Given the description of an element on the screen output the (x, y) to click on. 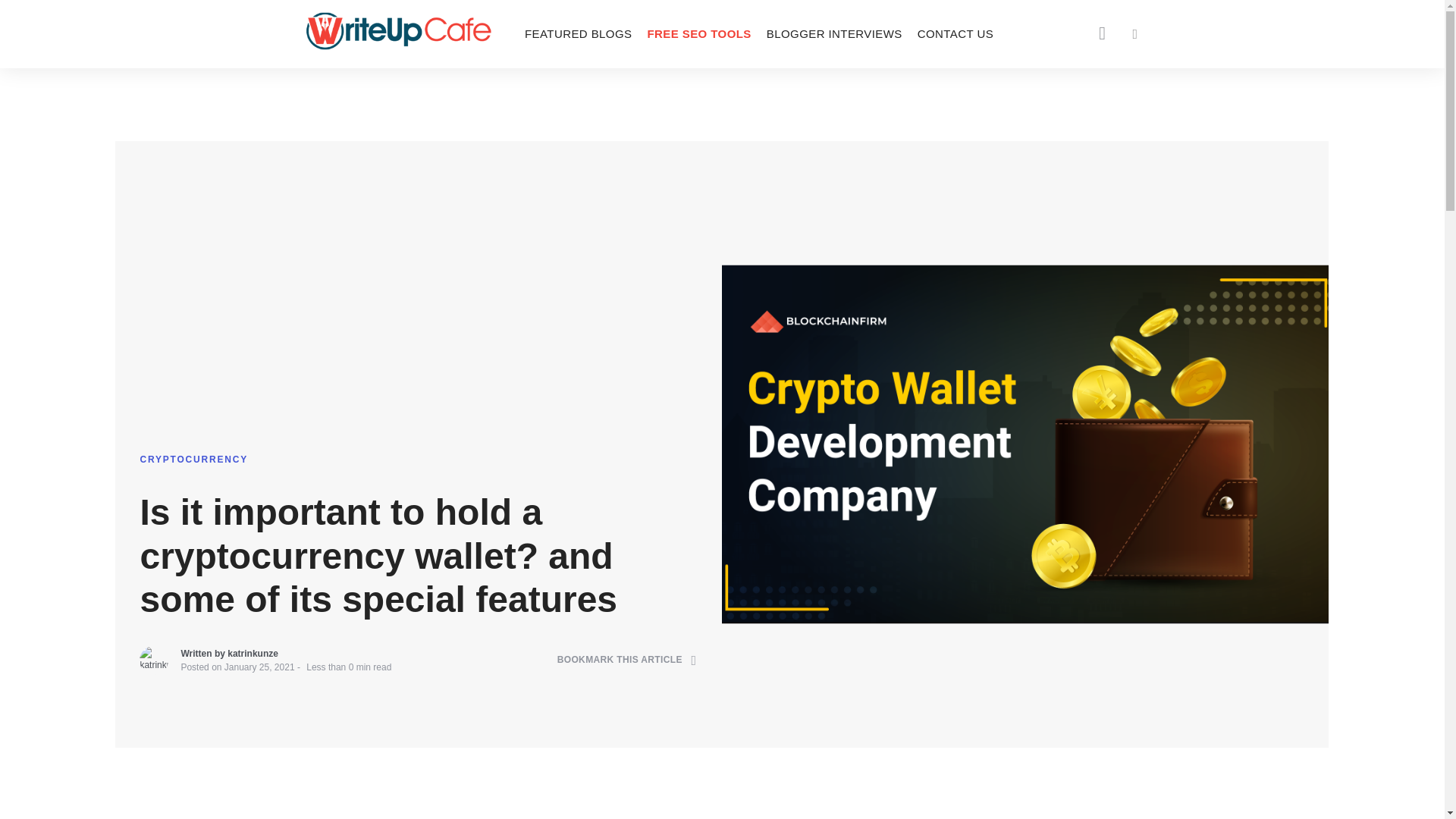
FEATURED BLOGS (577, 33)
CRYPTOCURRENCY (193, 459)
FREE SEO TOOLS (698, 33)
CONTACT US (955, 33)
CONTACT US (955, 33)
January 25, 2021 (259, 666)
BLOGGER INTERVIEWS (834, 33)
katrinkunze (252, 653)
BOOKMARK THIS ARTICLE (627, 660)
FEATURED BLOGS (577, 33)
